Given the description of an element on the screen output the (x, y) to click on. 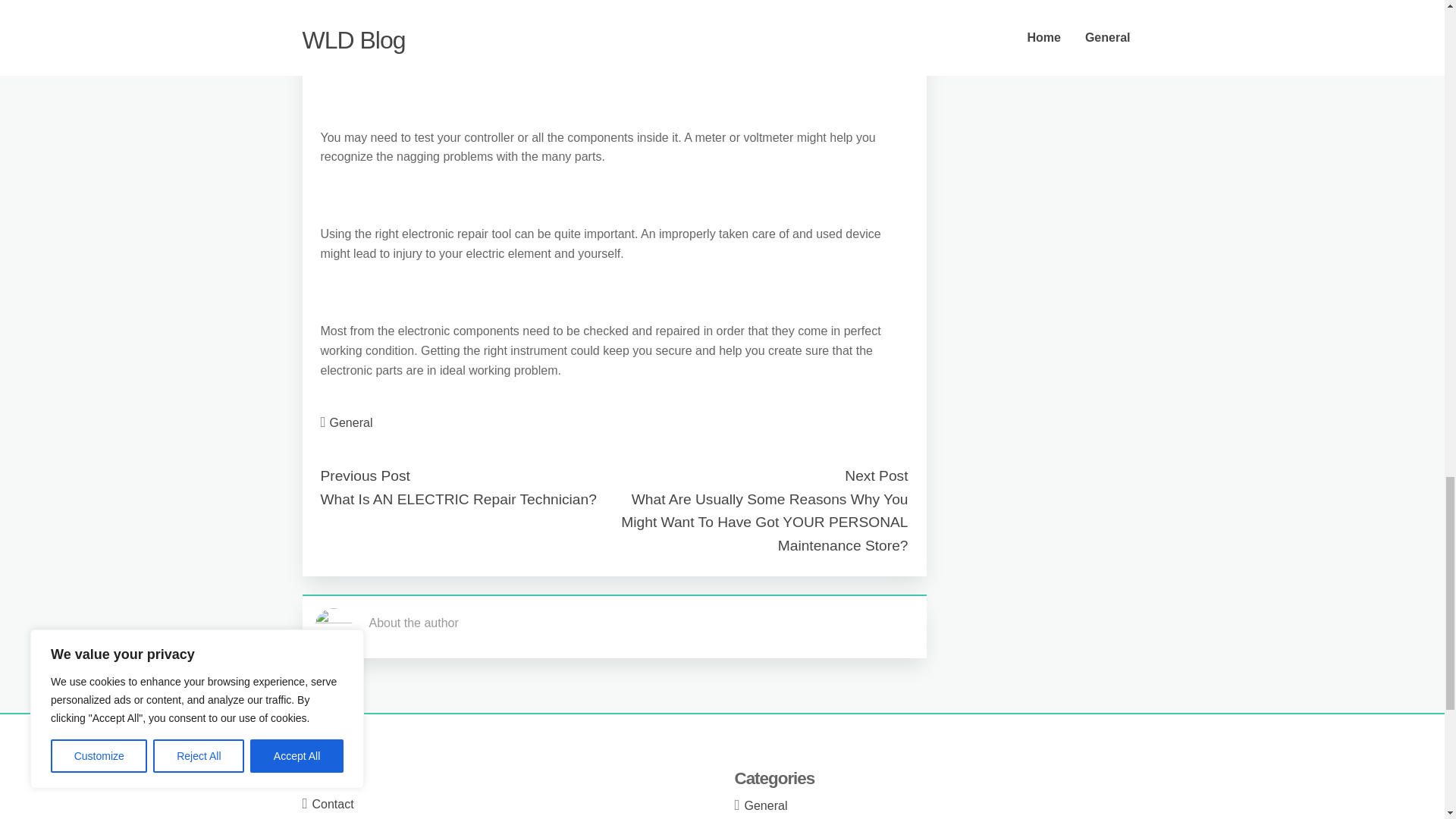
Contact (333, 803)
General (765, 805)
What Is AN ELECTRIC Repair Technician? (457, 498)
Next Post (875, 475)
About (328, 780)
General (351, 422)
Previous Post (364, 475)
